Given the description of an element on the screen output the (x, y) to click on. 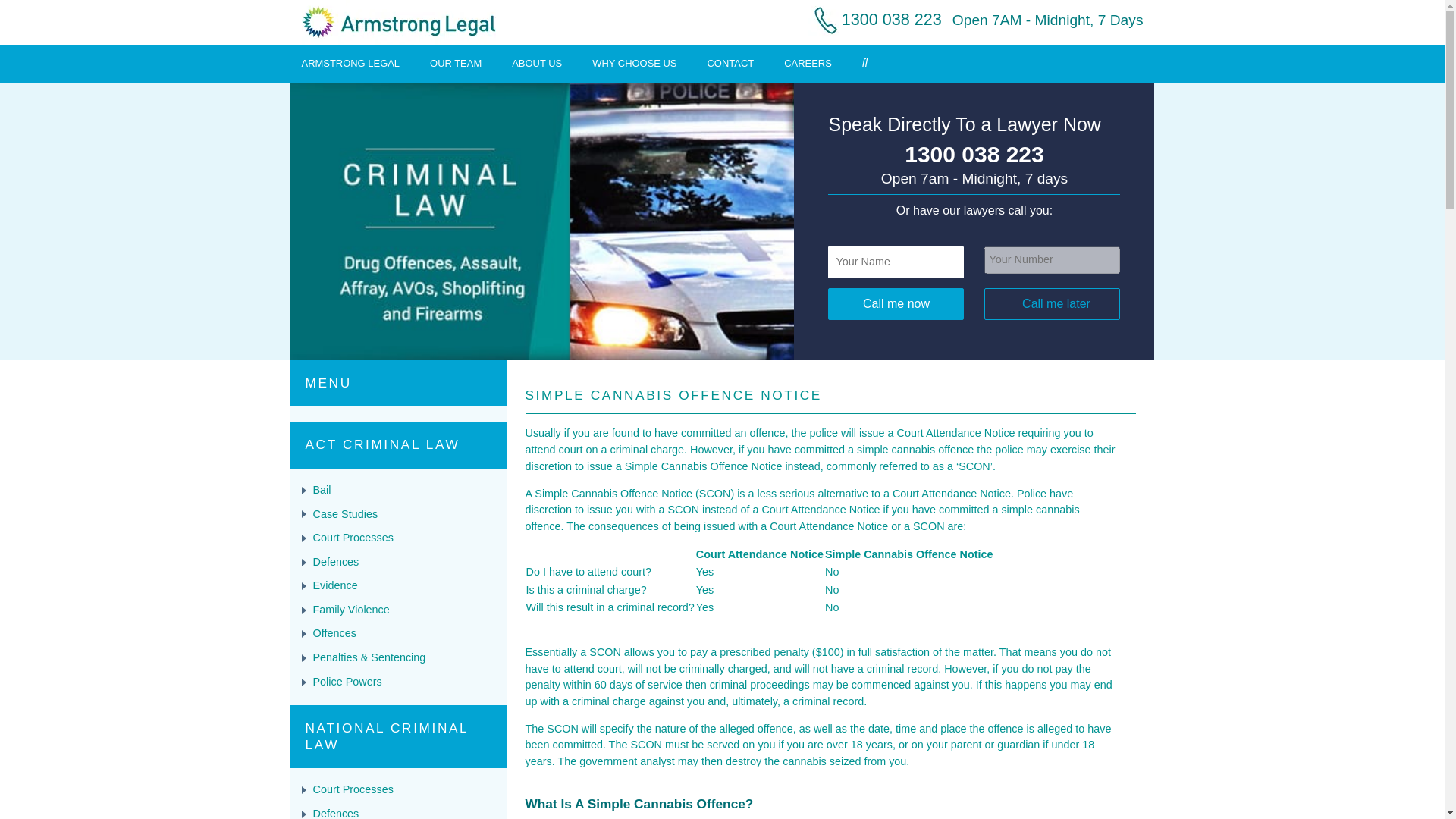
ARMSTRONG LEGAL (350, 62)
Bail (321, 490)
1300 038 223 Open 7AM - Midnight, 7 Days (970, 19)
Case Studies (345, 513)
Call me now (895, 304)
Call me now (895, 304)
1300 038 223 (973, 154)
Court Processes (353, 537)
CONTACT (730, 62)
ABOUT US (537, 62)
Call me later (1051, 304)
OUR TEAM (455, 62)
WHY CHOOSE US (634, 62)
CAREERS (807, 62)
